Given the description of an element on the screen output the (x, y) to click on. 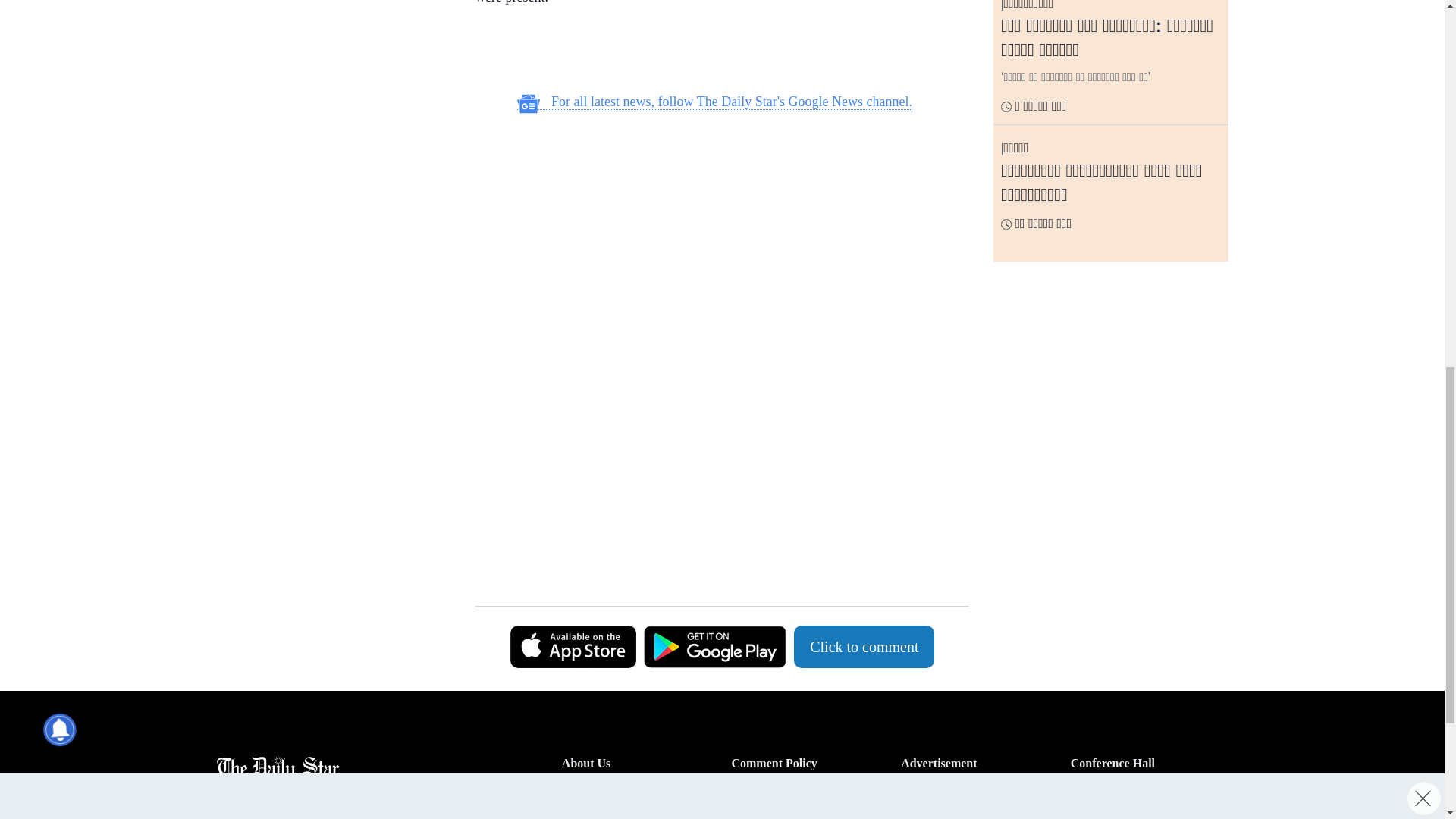
3rd party ad content (713, 222)
3rd party ad content (713, 427)
3rd party ad content (714, 567)
3rd party ad content (714, 51)
3rd party ad content (332, 212)
3rd party ad content (332, 51)
